Given the description of an element on the screen output the (x, y) to click on. 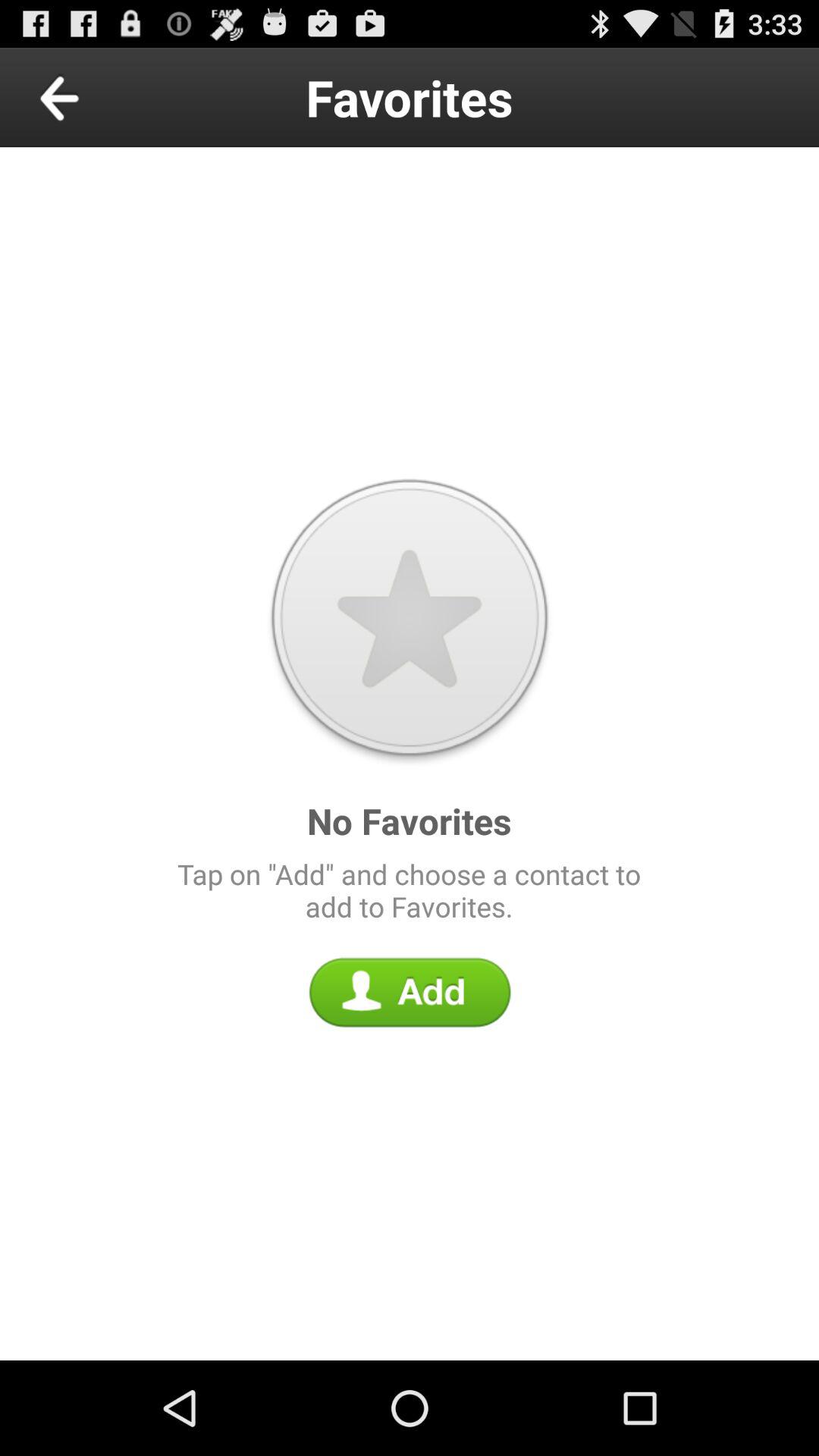
start process adding contact (409, 992)
